Given the description of an element on the screen output the (x, y) to click on. 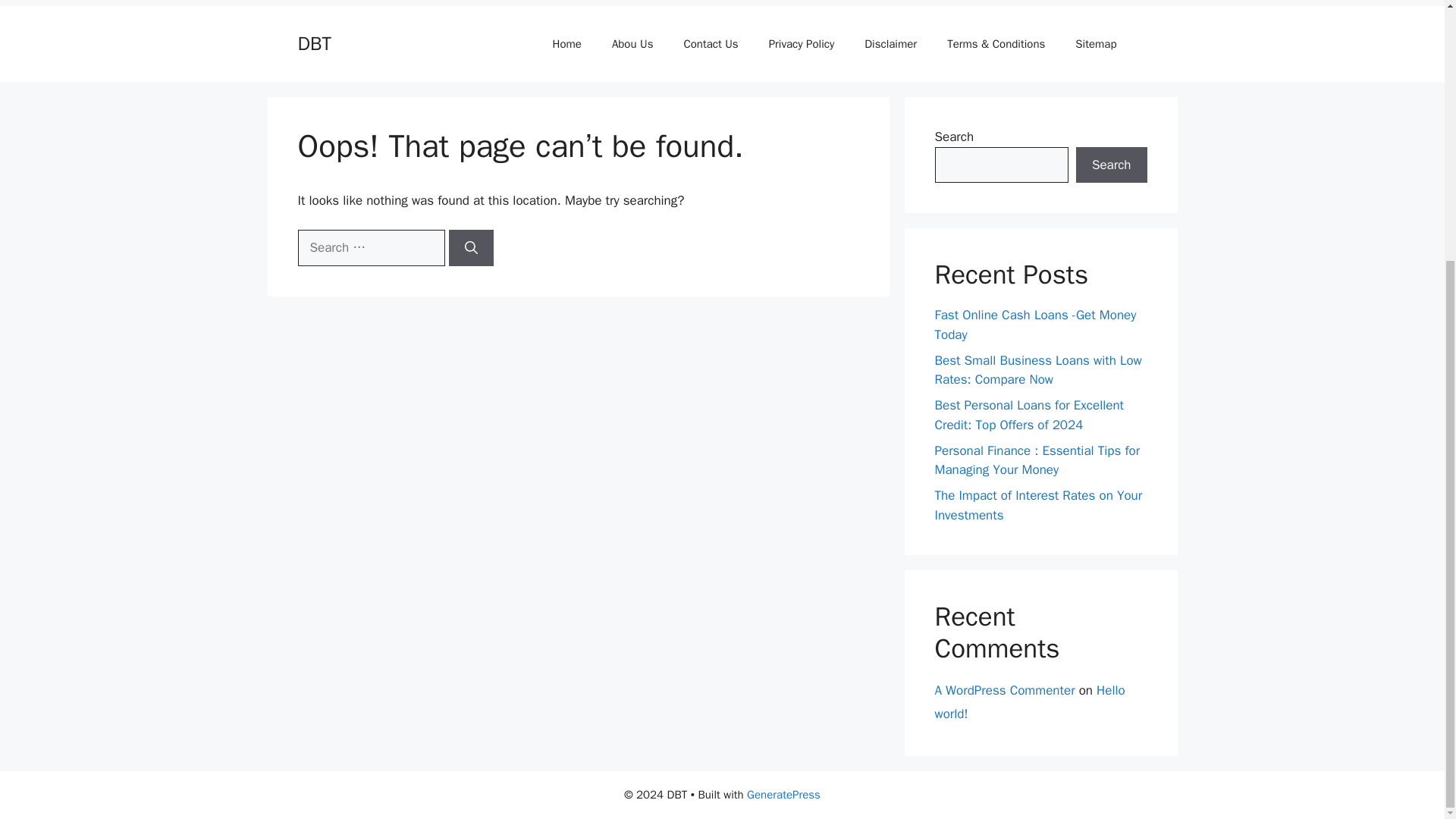
Contact Us (710, 43)
A WordPress Commenter (1004, 690)
Search (1111, 165)
Fast Online Cash Loans -Get Money Today (1034, 325)
Privacy Policy (802, 43)
Sitemap (1095, 43)
Abou Us (632, 43)
Best Small Business Loans with Low Rates: Compare Now (1037, 369)
GeneratePress (783, 794)
Home (566, 43)
